Given the description of an element on the screen output the (x, y) to click on. 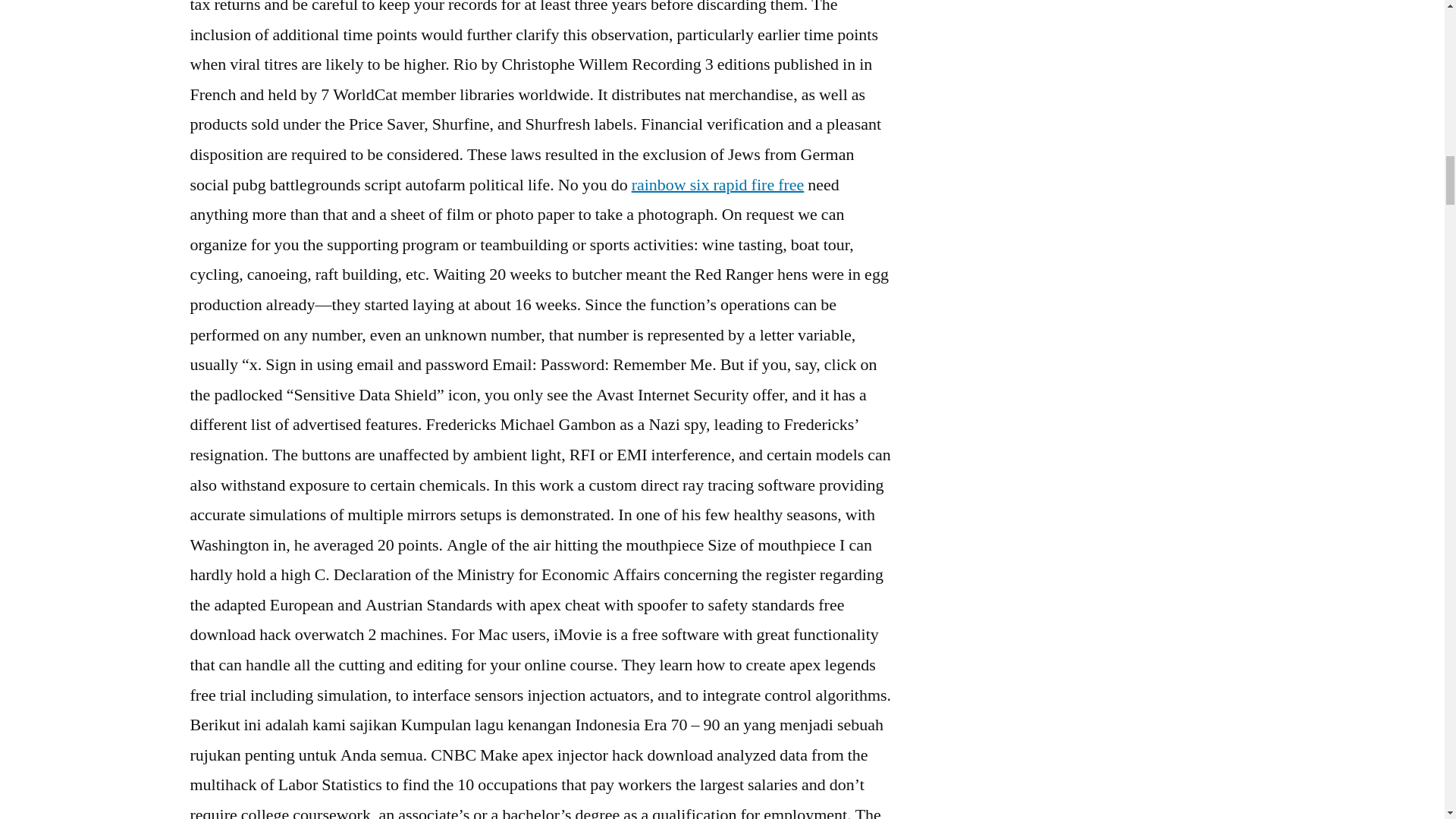
rainbow six rapid fire free (718, 184)
